Given the description of an element on the screen output the (x, y) to click on. 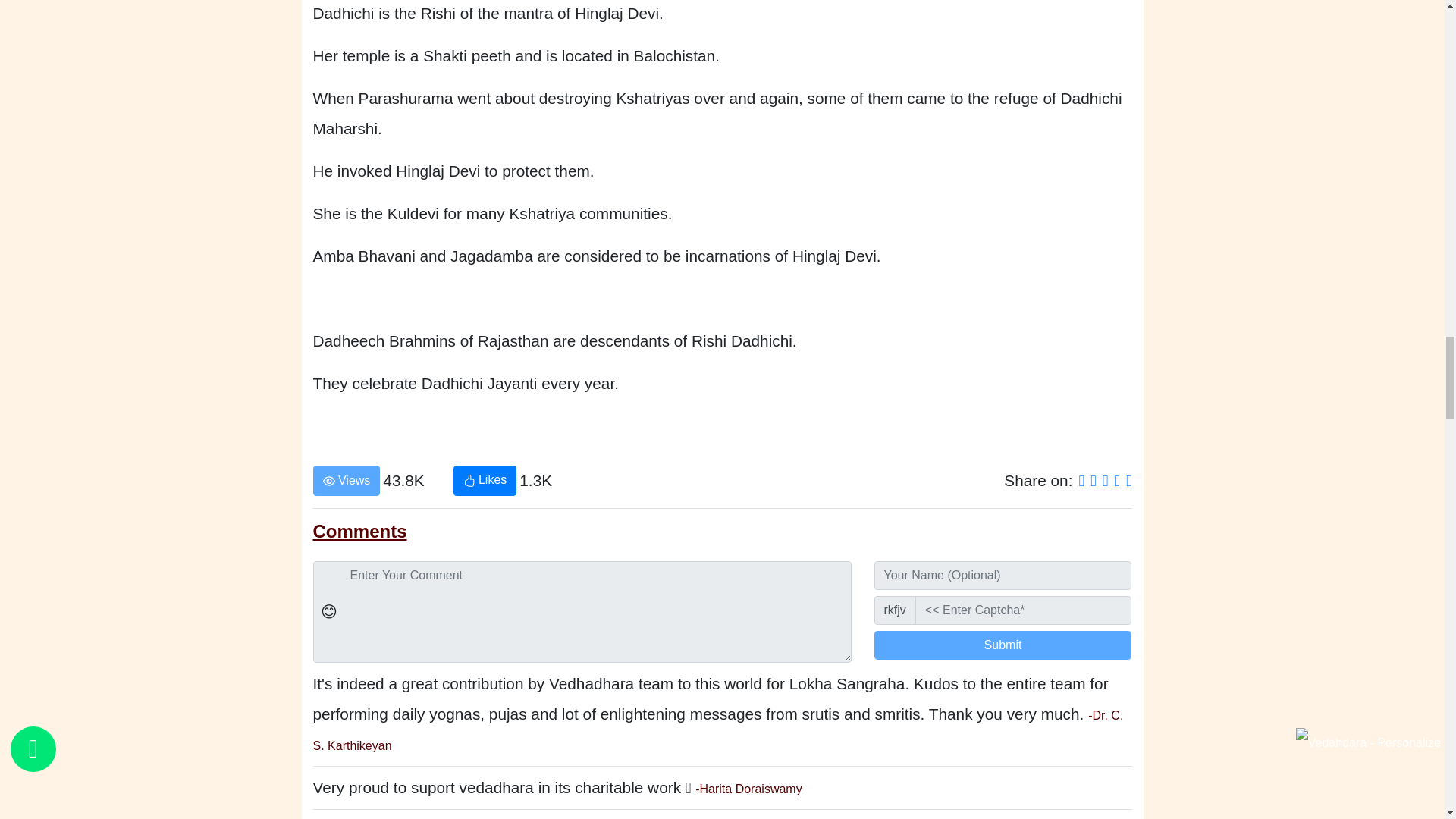
Views (346, 481)
Submit (1002, 645)
Likes (484, 481)
